Given the description of an element on the screen output the (x, y) to click on. 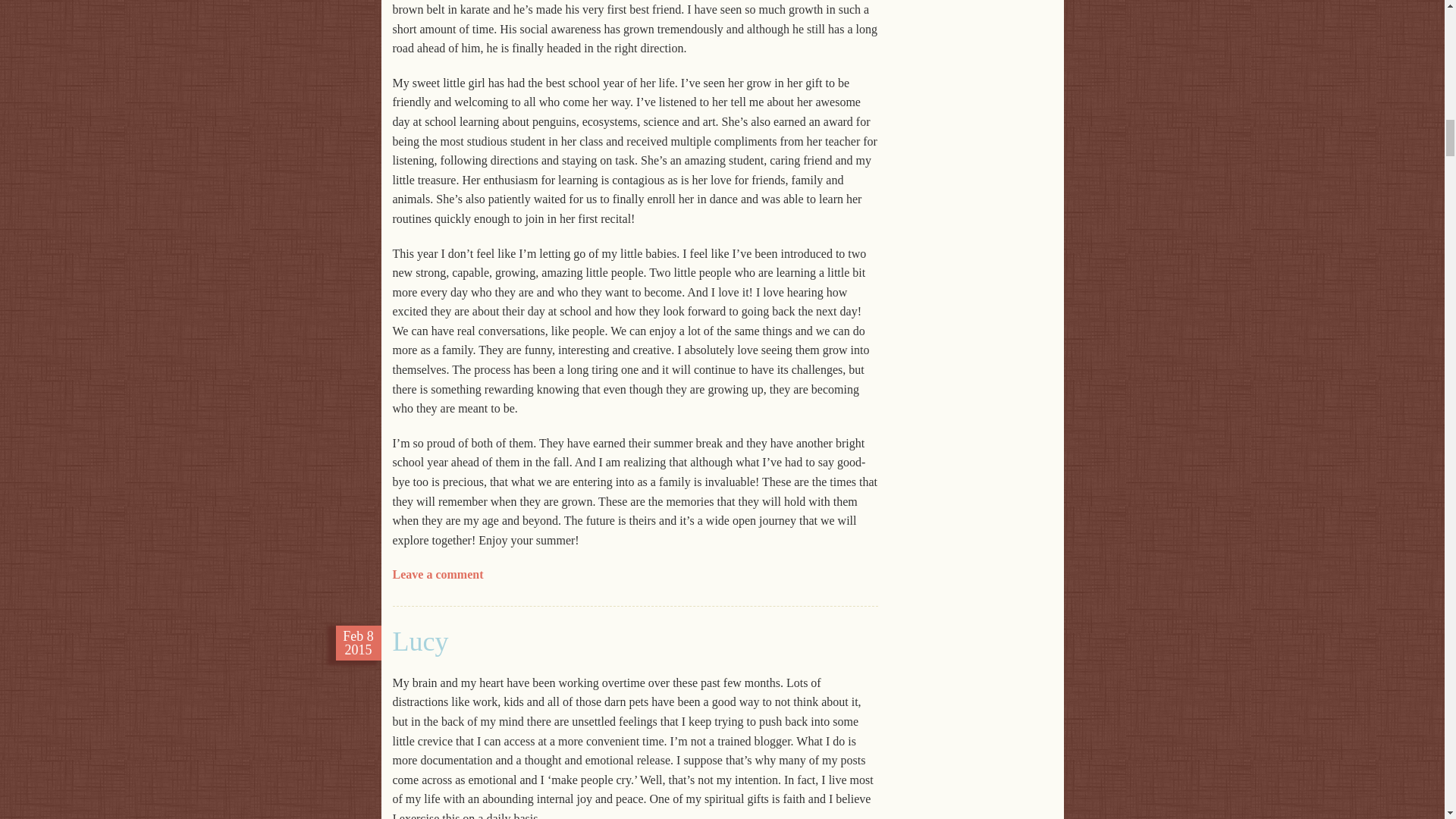
Permalink to Lucy (420, 641)
Leave a comment (438, 574)
Feb 8 2015 (358, 642)
Permanent Link to Lucy (358, 642)
Lucy (420, 641)
